Given the description of an element on the screen output the (x, y) to click on. 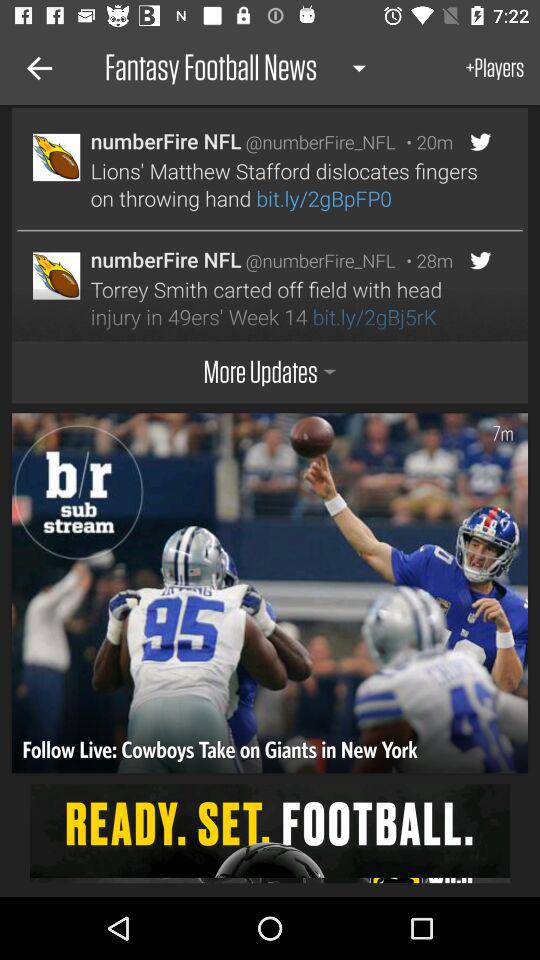
jump until the more updates item (269, 372)
